Given the description of an element on the screen output the (x, y) to click on. 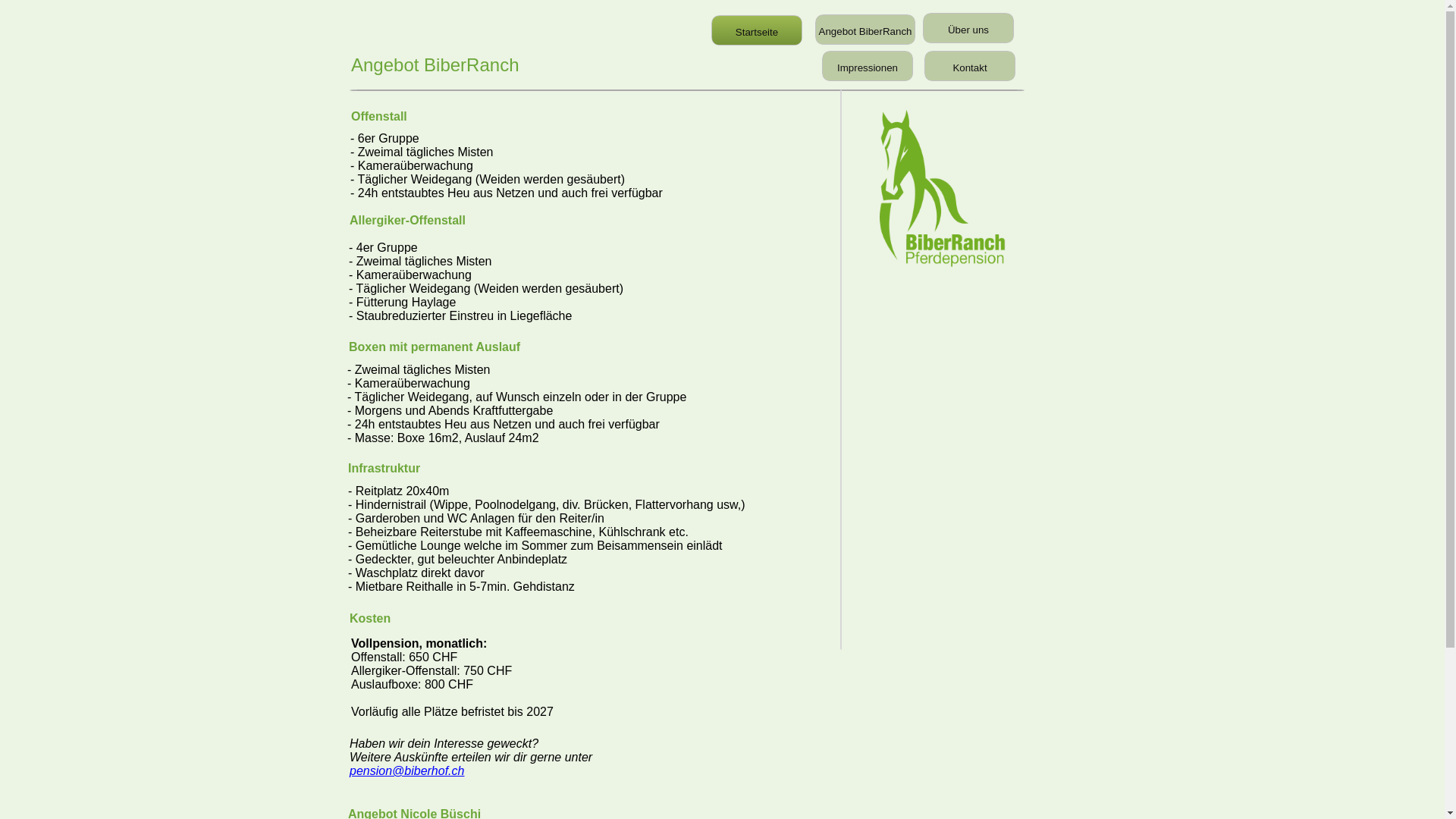
pension@biberhof.ch Element type: text (406, 770)
